Given the description of an element on the screen output the (x, y) to click on. 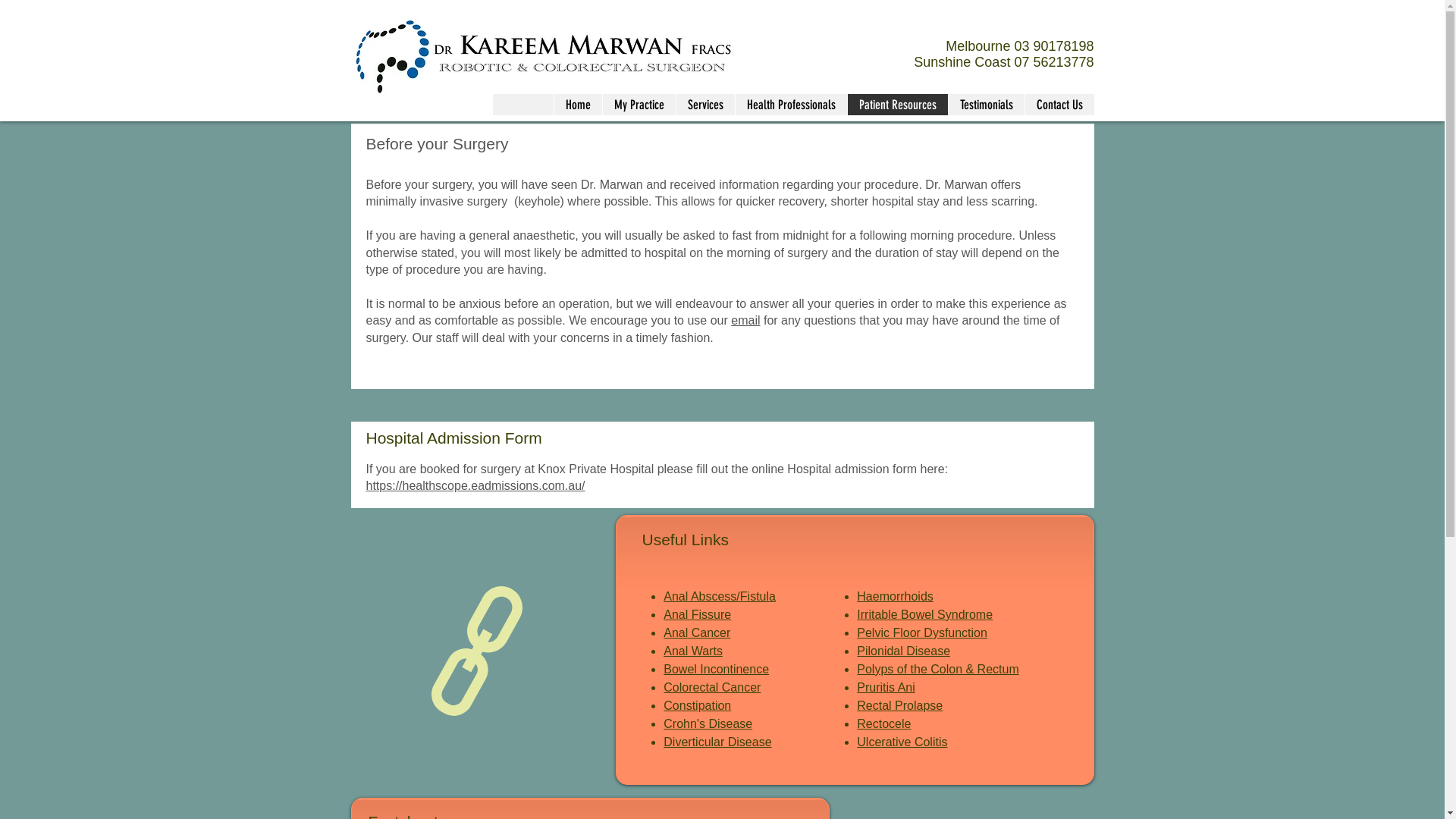
Bowel Incontinence Element type: text (715, 668)
Contact Us Element type: text (1058, 104)
Rectocele Element type: text (883, 723)
Anal Fissure Element type: text (697, 614)
Constipation Element type: text (697, 705)
Pelvic Floor Dysfunction Element type: text (921, 632)
Health Professionals Element type: text (790, 104)
Home Element type: text (577, 104)
https://healthscope.eadmissions.com.au/ Element type: text (474, 485)
Services Element type: text (704, 104)
Testimonials Element type: text (985, 104)
Pruritis Ani Element type: text (885, 686)
Anal Cancer Element type: text (696, 632)
Anal Warts Element type: text (692, 650)
Crohn's Disease Element type: text (707, 723)
Ulcerative Colitis Element type: text (901, 741)
email Element type: text (745, 319)
Colorectal Cancer Element type: text (711, 686)
Anal Abscess/Fistula Element type: text (719, 595)
Polyps of the Colon & Rectum Element type: text (937, 668)
Diverticular Disease Element type: text (717, 741)
Irritable Bowel Syndrome Element type: text (924, 614)
My Practice Element type: text (638, 104)
Patient Resources Element type: text (896, 104)
Haemorrhoids Element type: text (894, 595)
Rectal Prolapse Element type: text (899, 705)
Pilonidal Disease Element type: text (903, 650)
